Given the description of an element on the screen output the (x, y) to click on. 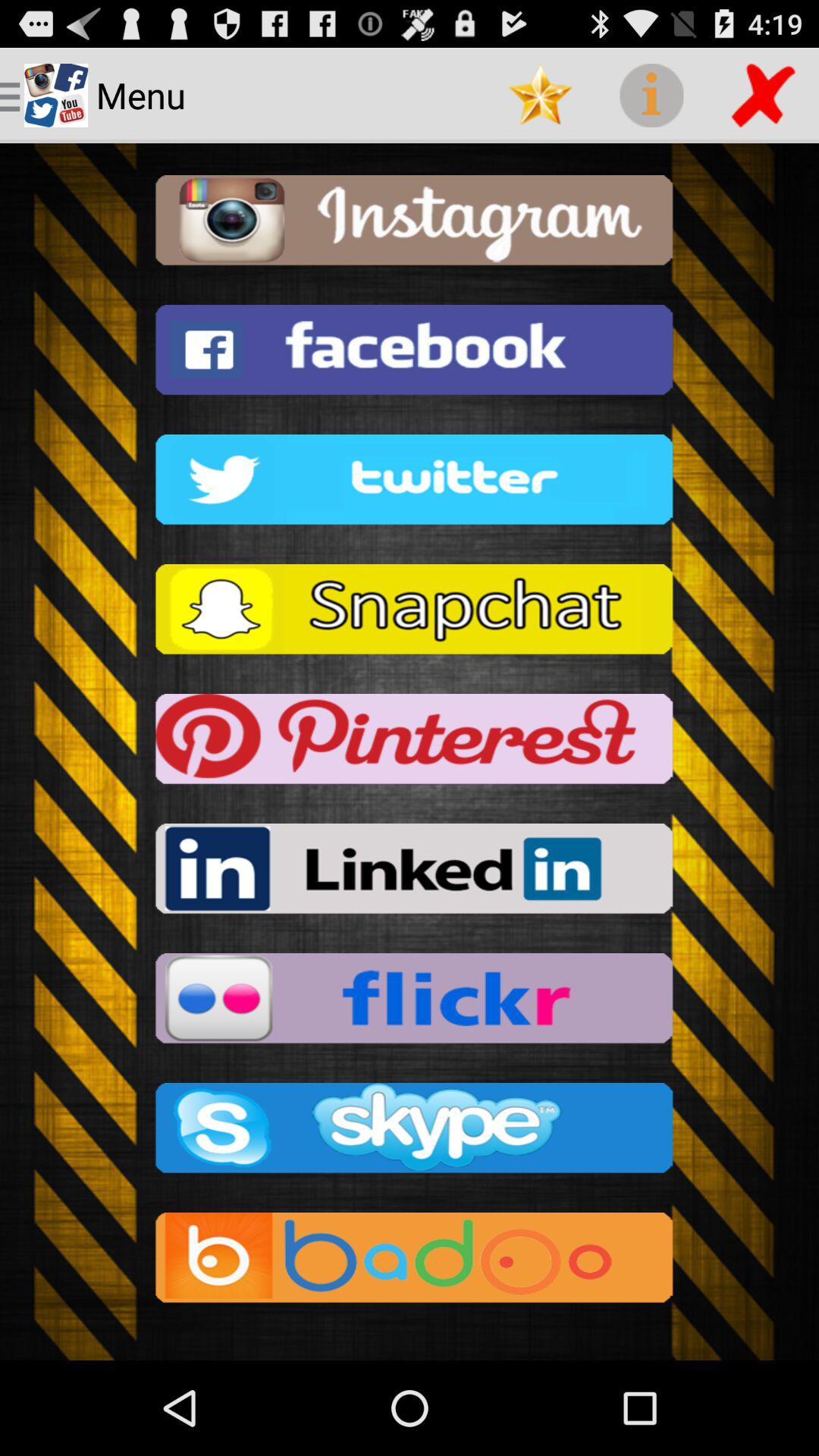
select twitter (409, 484)
